Given the description of an element on the screen output the (x, y) to click on. 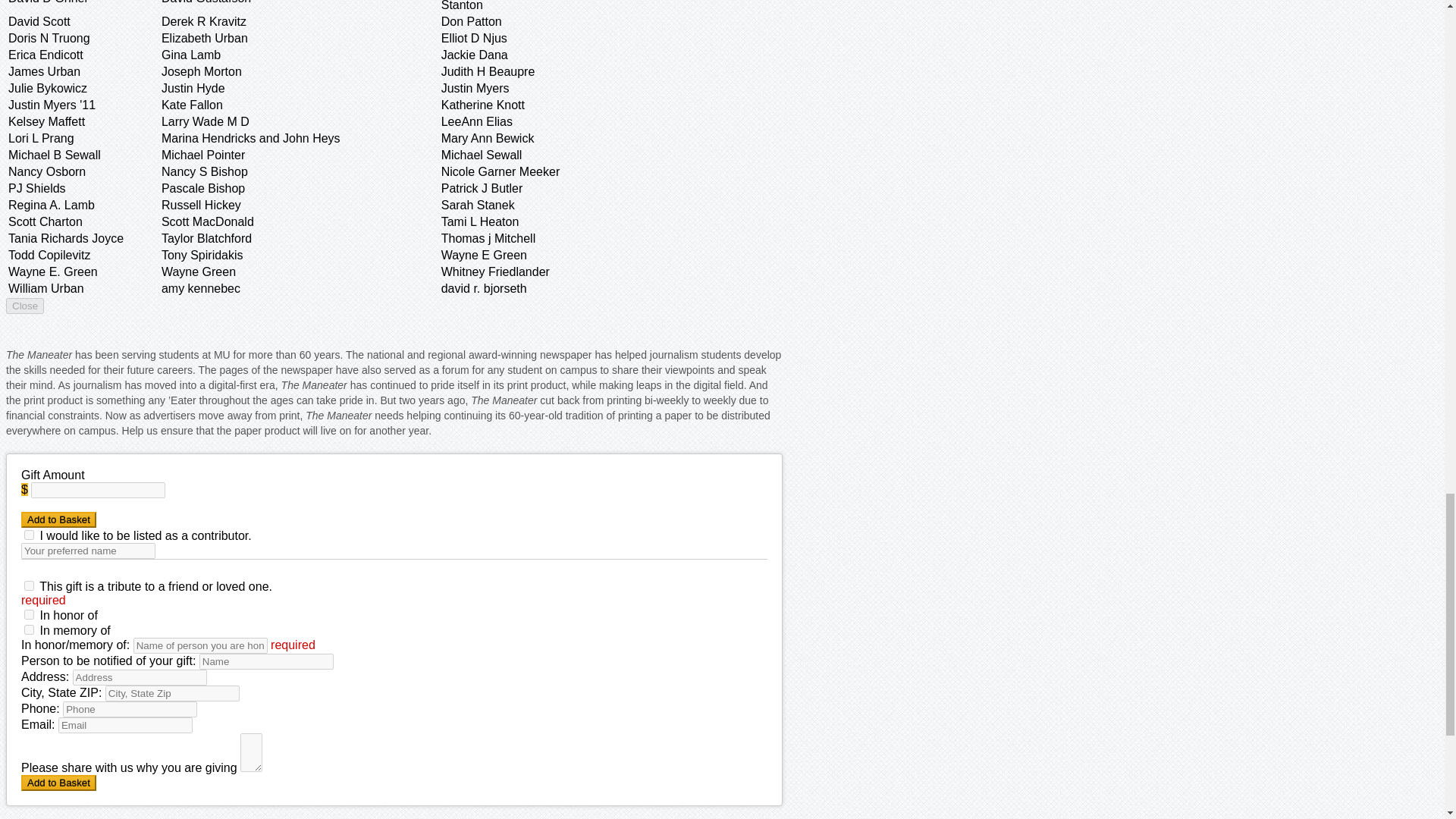
on (28, 629)
Add to Basket (58, 782)
on (28, 534)
on (28, 585)
Add to Basket (58, 519)
on (28, 614)
